Given the description of an element on the screen output the (x, y) to click on. 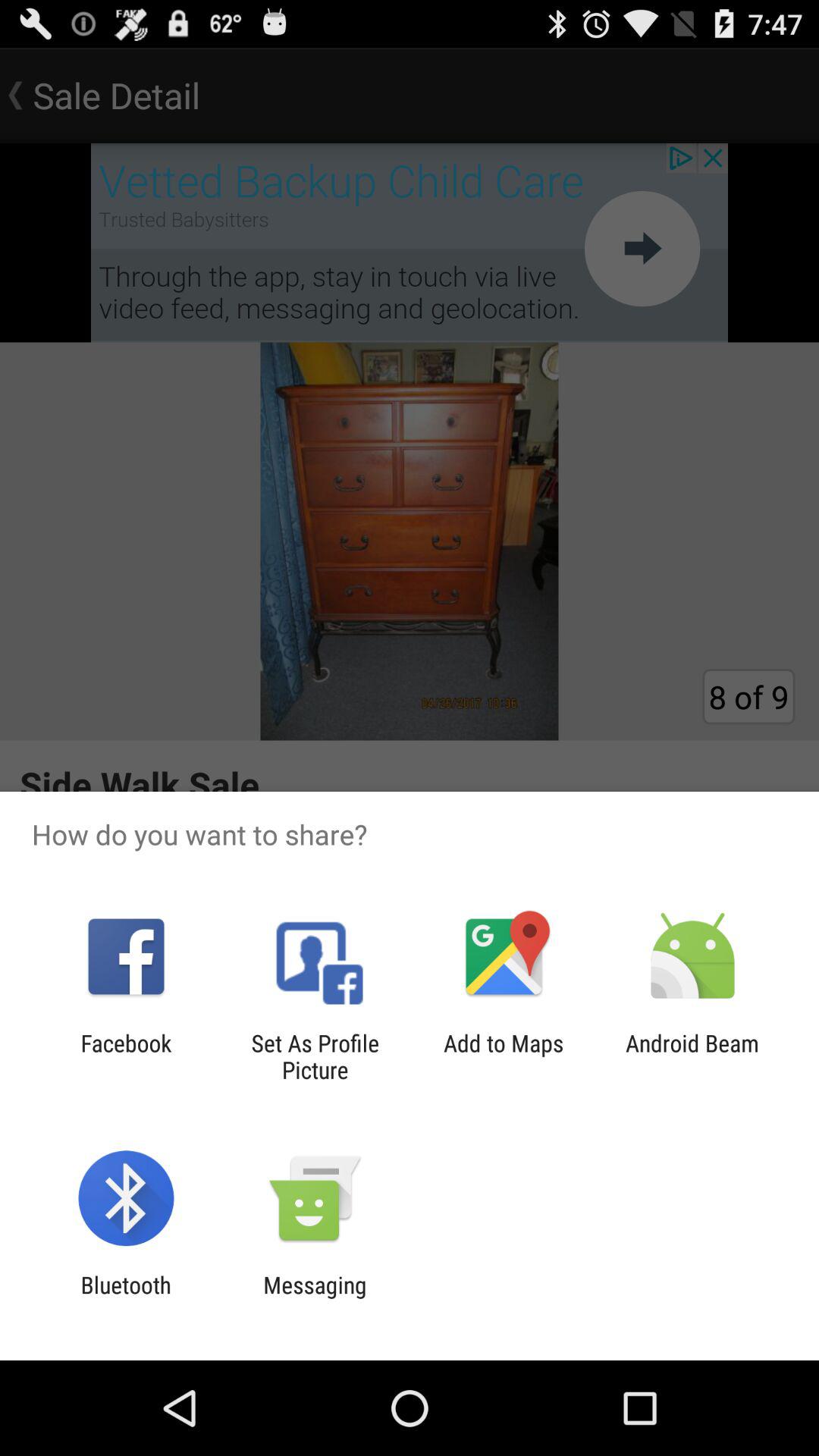
flip until facebook (125, 1056)
